Given the description of an element on the screen output the (x, y) to click on. 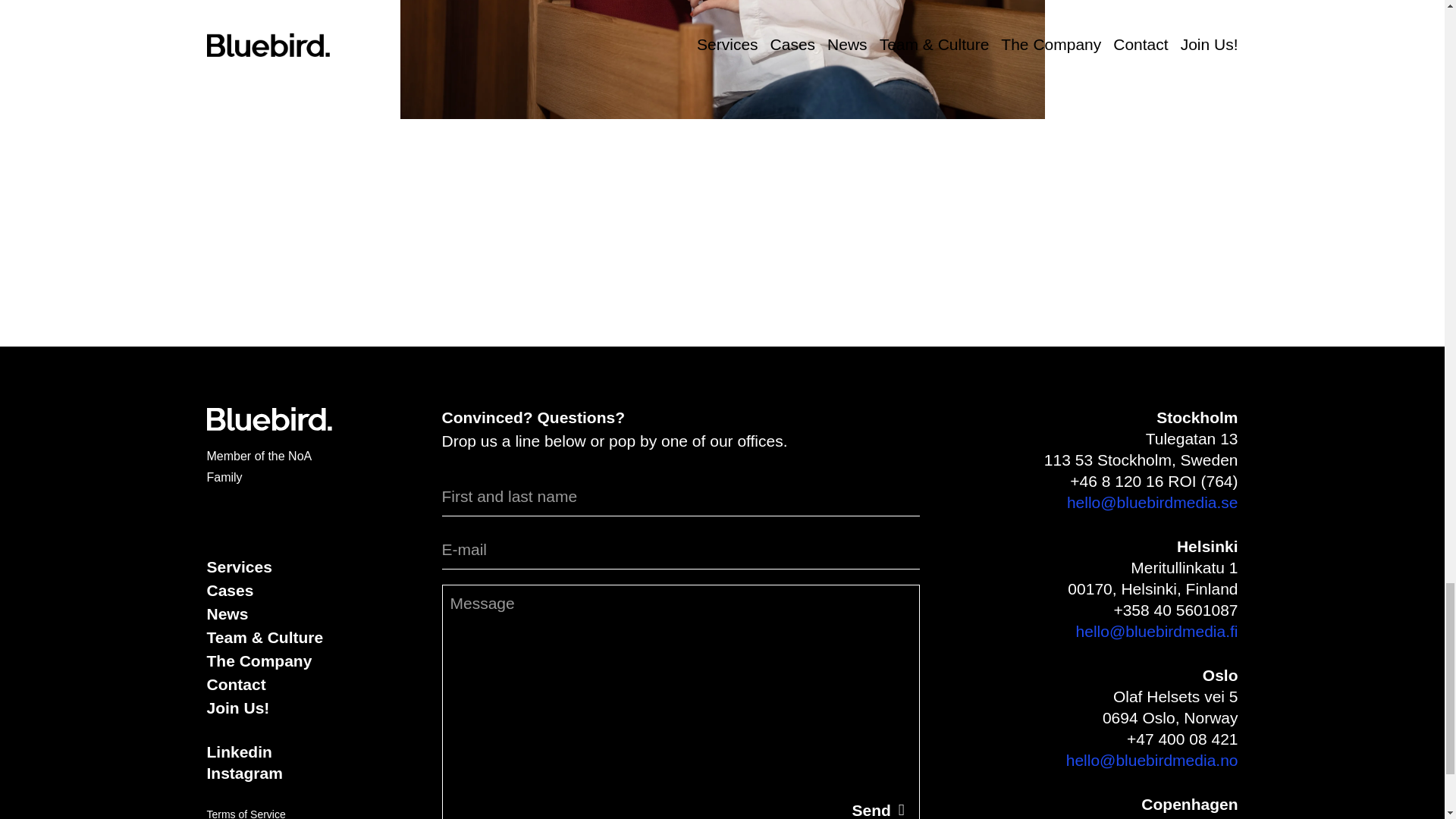
Instagram (244, 773)
Join Us! (237, 708)
Terms of Service (245, 812)
The Company (258, 660)
Services (238, 567)
News (226, 613)
Member of the NoA Family (258, 466)
Linkedin (238, 751)
Send (876, 801)
Contact (235, 684)
